Given the description of an element on the screen output the (x, y) to click on. 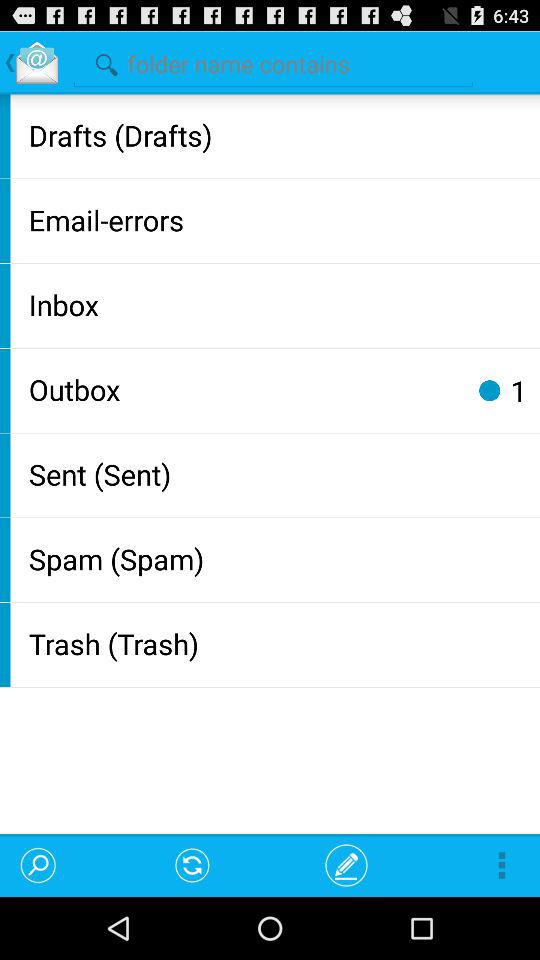
search option (273, 61)
